Given the description of an element on the screen output the (x, y) to click on. 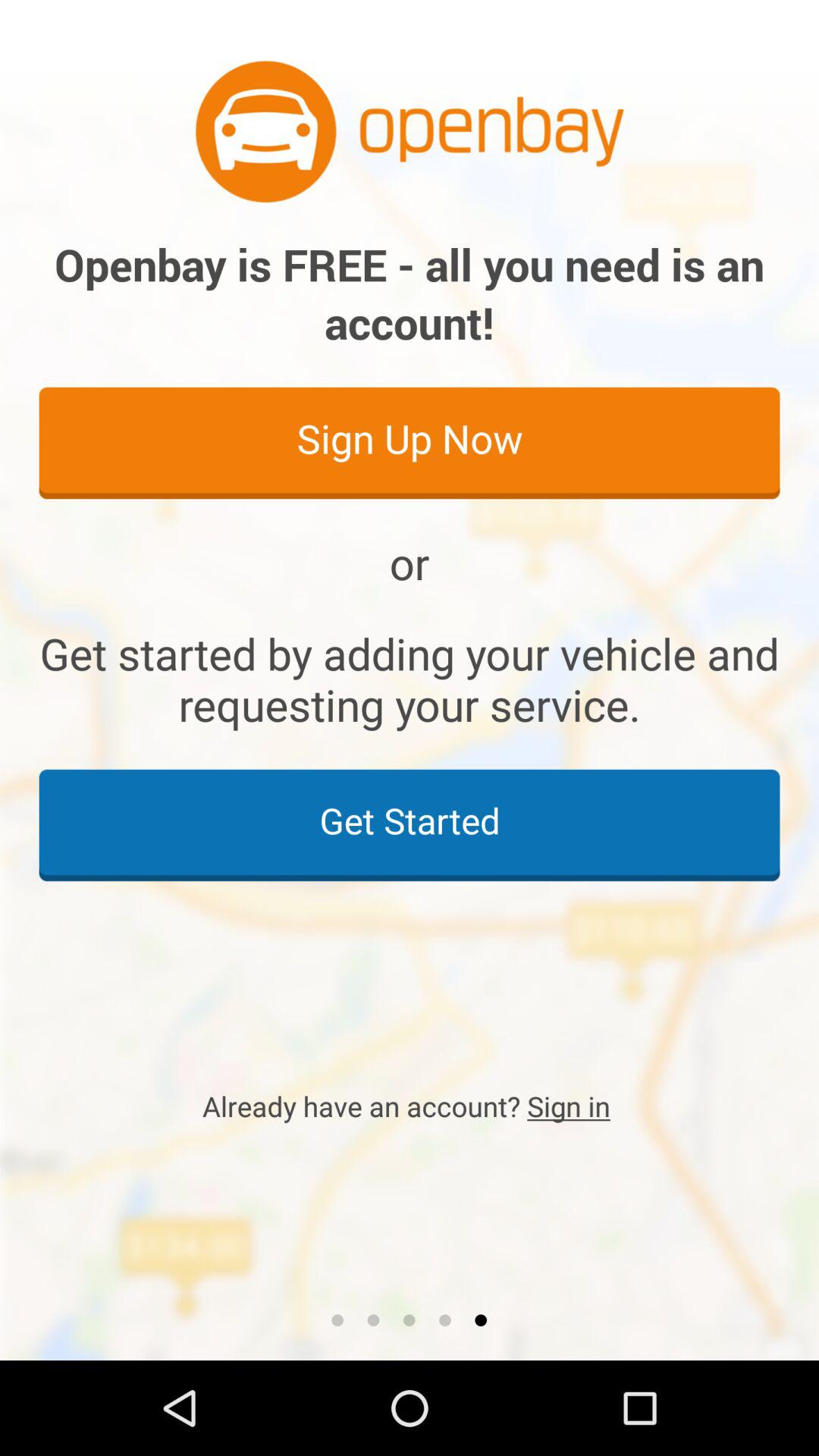
launch the already have an item (409, 1105)
